Given the description of an element on the screen output the (x, y) to click on. 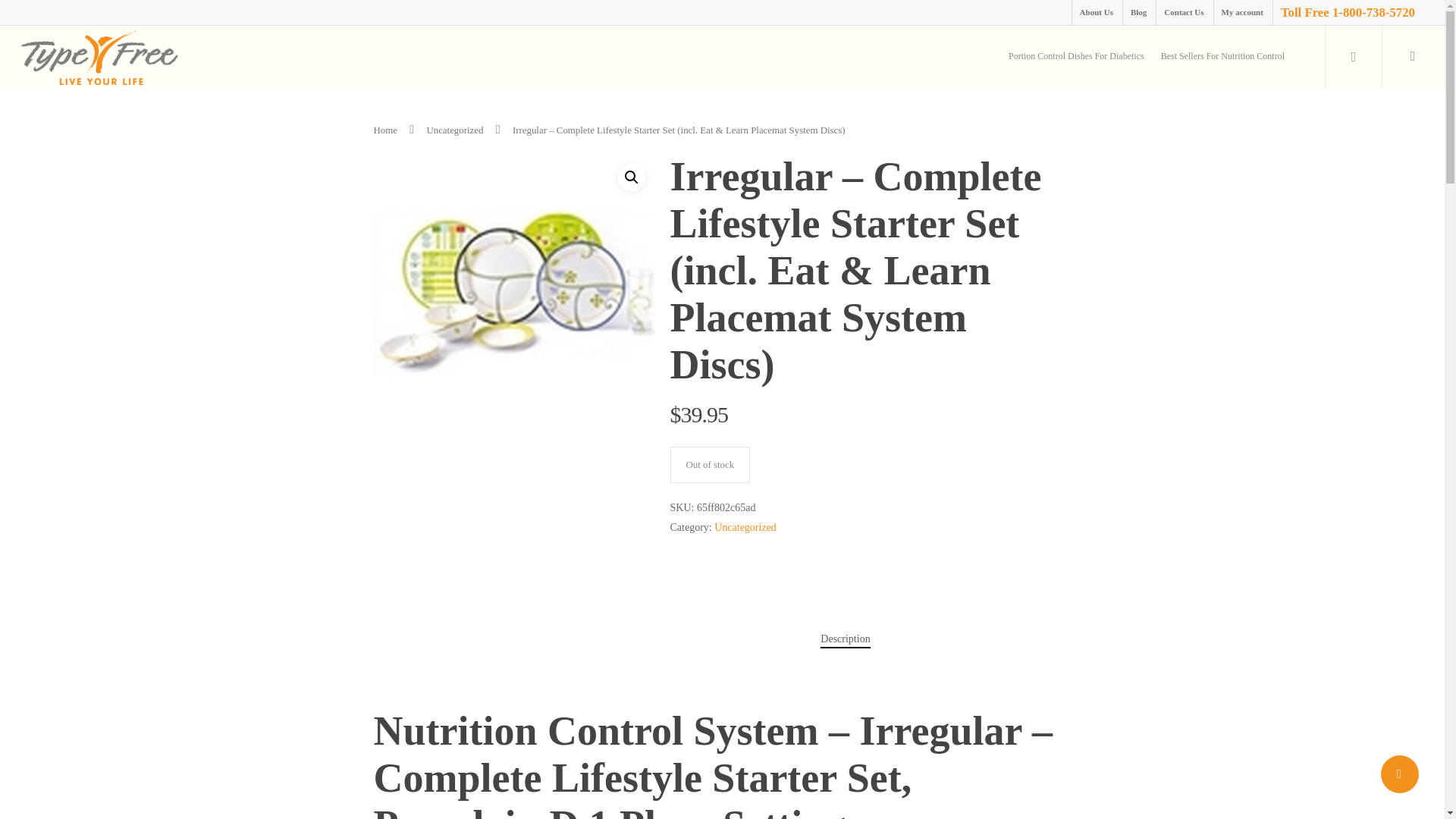
Contact Us (1183, 12)
Home (384, 130)
About Us (1096, 12)
Uncategorized (454, 130)
Portion Control Dishes For Diabetics (1076, 57)
Toll Free 1-800-738-5720 (1347, 12)
Description (845, 638)
Best Sellers For Nutrition Control (1222, 57)
Blog (1138, 12)
My account (1241, 12)
PPNCS-PSK1-IRR-1 (514, 294)
Uncategorized (745, 527)
